Given the description of an element on the screen output the (x, y) to click on. 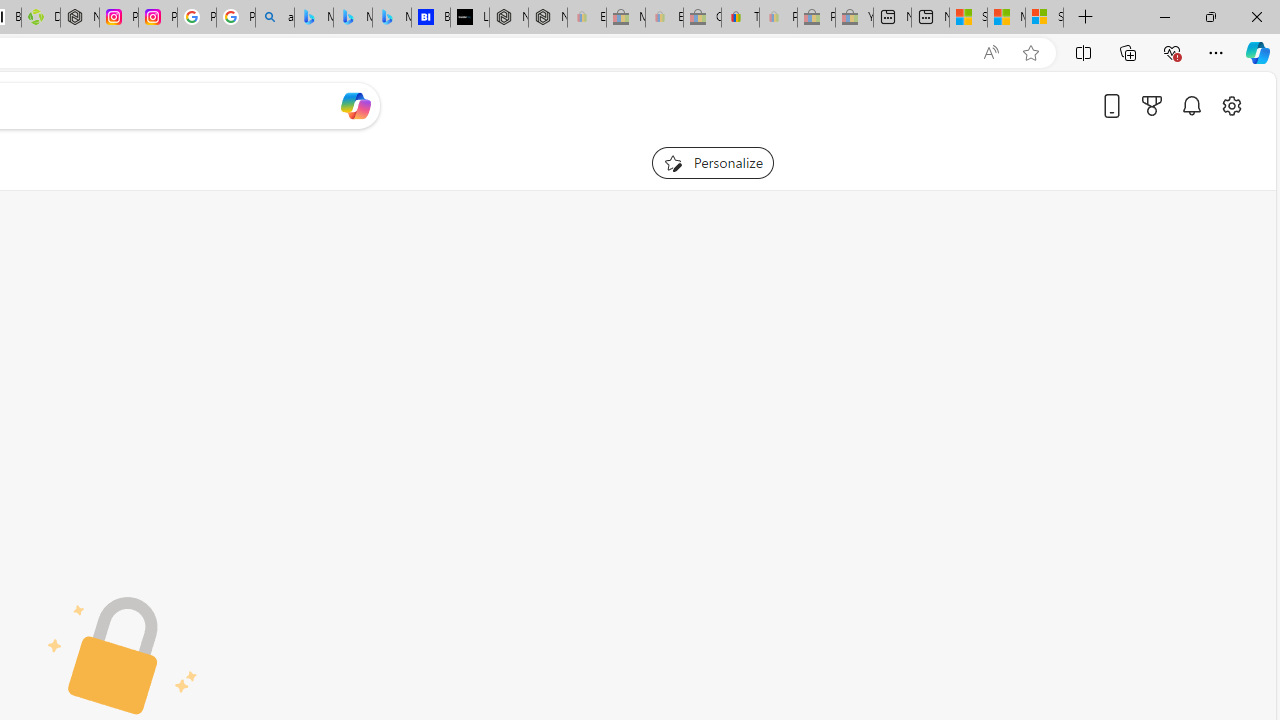
Threats and offensive language policy | eBay (740, 17)
Yard, Garden & Outdoor Living - Sleeping (853, 17)
Personalize your feed" (712, 162)
Private profile picture (123, 656)
Nordace - Nordace Edin Collection (79, 17)
